Given the description of an element on the screen output the (x, y) to click on. 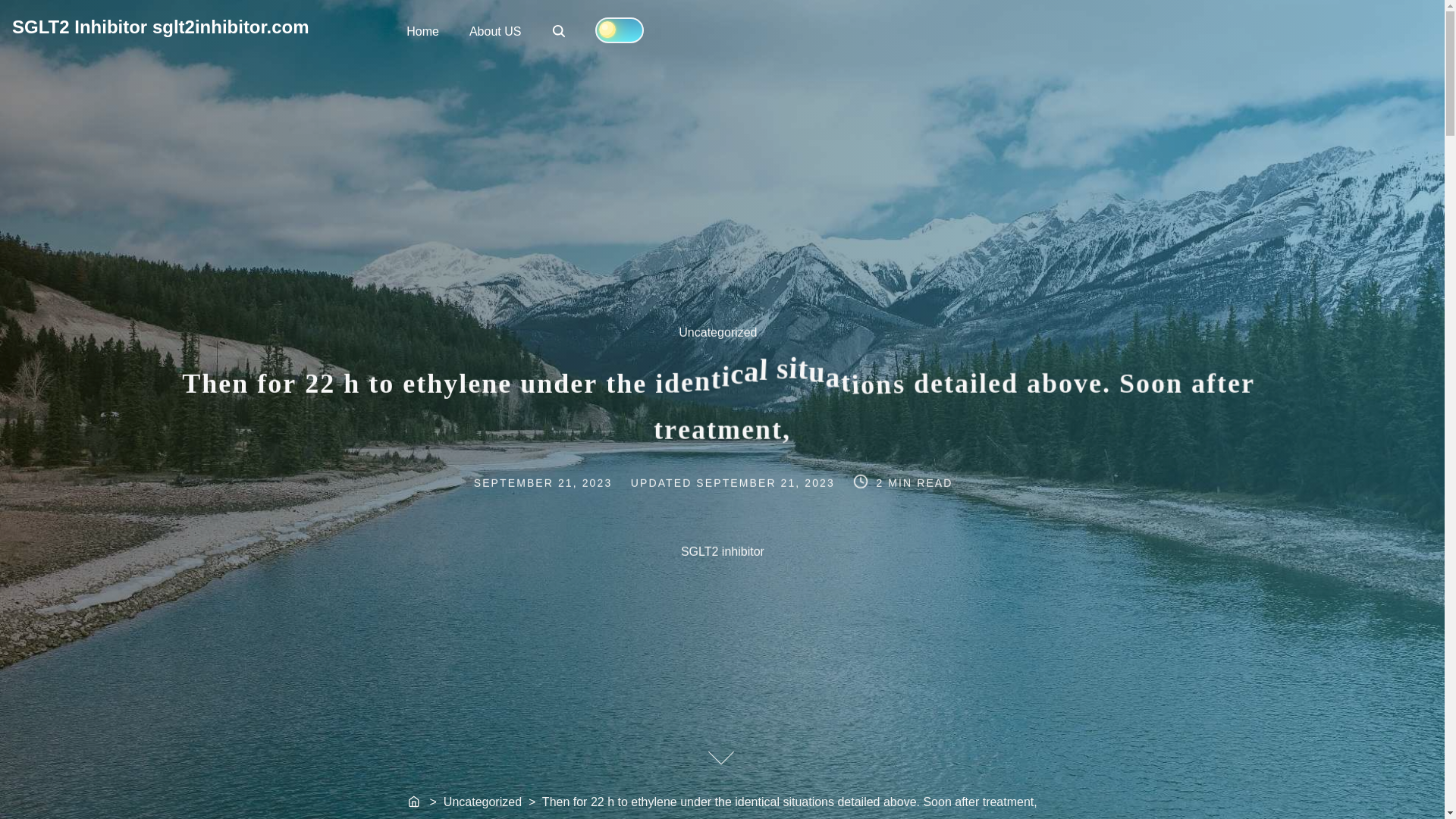
Home (414, 802)
SEPTEMBER 21, 2023 (564, 480)
About US (494, 30)
Home (559, 31)
SEPTEMBER 21, 2023 (422, 30)
Uncategorized (767, 480)
SGLT2 Inhibitor sglt2inhibitor.com (726, 341)
Search (159, 26)
